Given the description of an element on the screen output the (x, y) to click on. 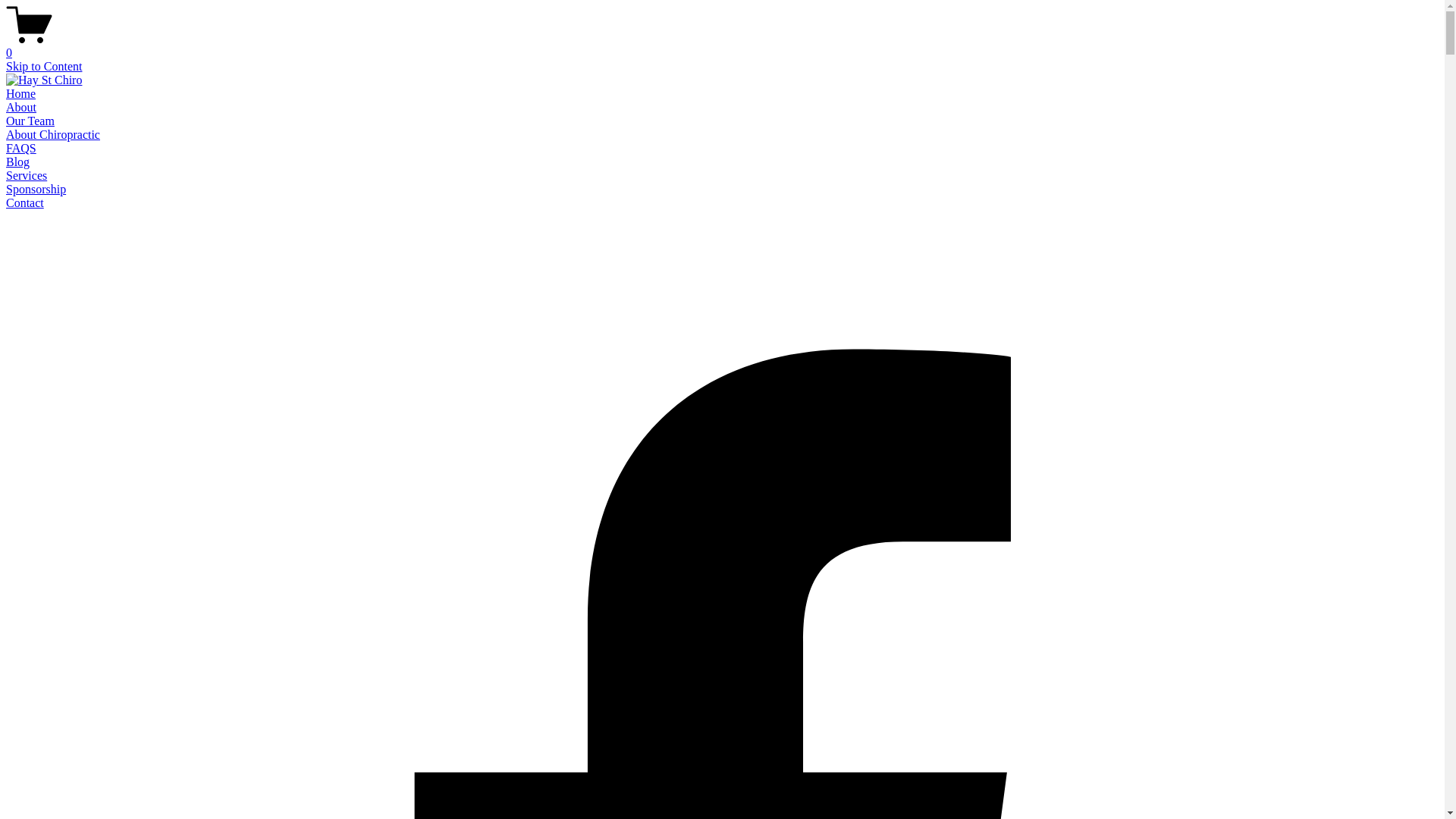
Our Team Element type: text (30, 120)
FAQS Element type: text (21, 147)
About Element type: text (21, 106)
Home Element type: text (20, 93)
0 Element type: text (722, 45)
Blog Element type: text (17, 161)
About Chiropractic Element type: text (53, 134)
Skip to Content Element type: text (43, 65)
Contact Element type: text (24, 202)
Services Element type: text (26, 175)
Sponsorship Element type: text (35, 188)
